Given the description of an element on the screen output the (x, y) to click on. 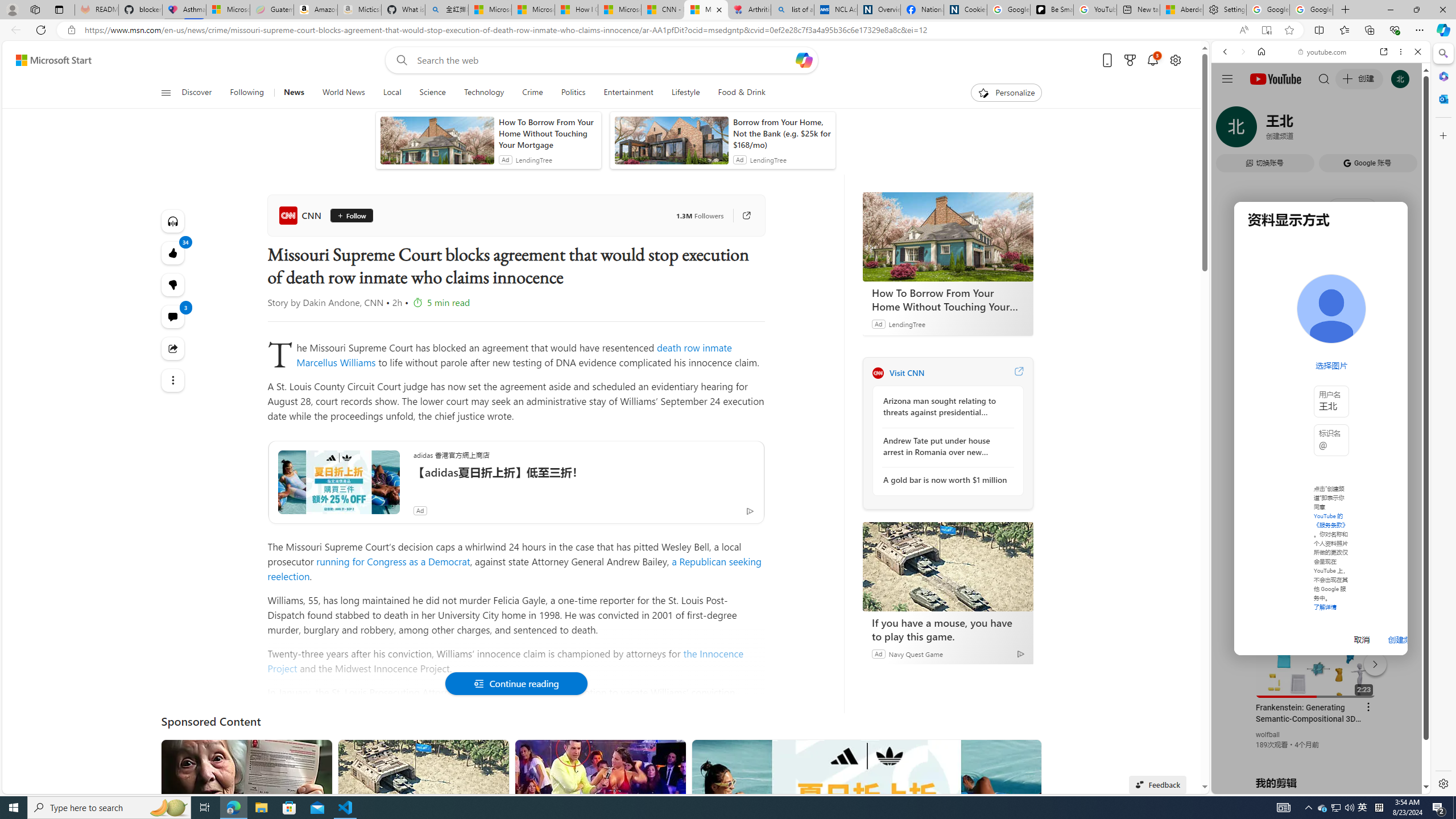
Follow (351, 215)
